Given the description of an element on the screen output the (x, y) to click on. 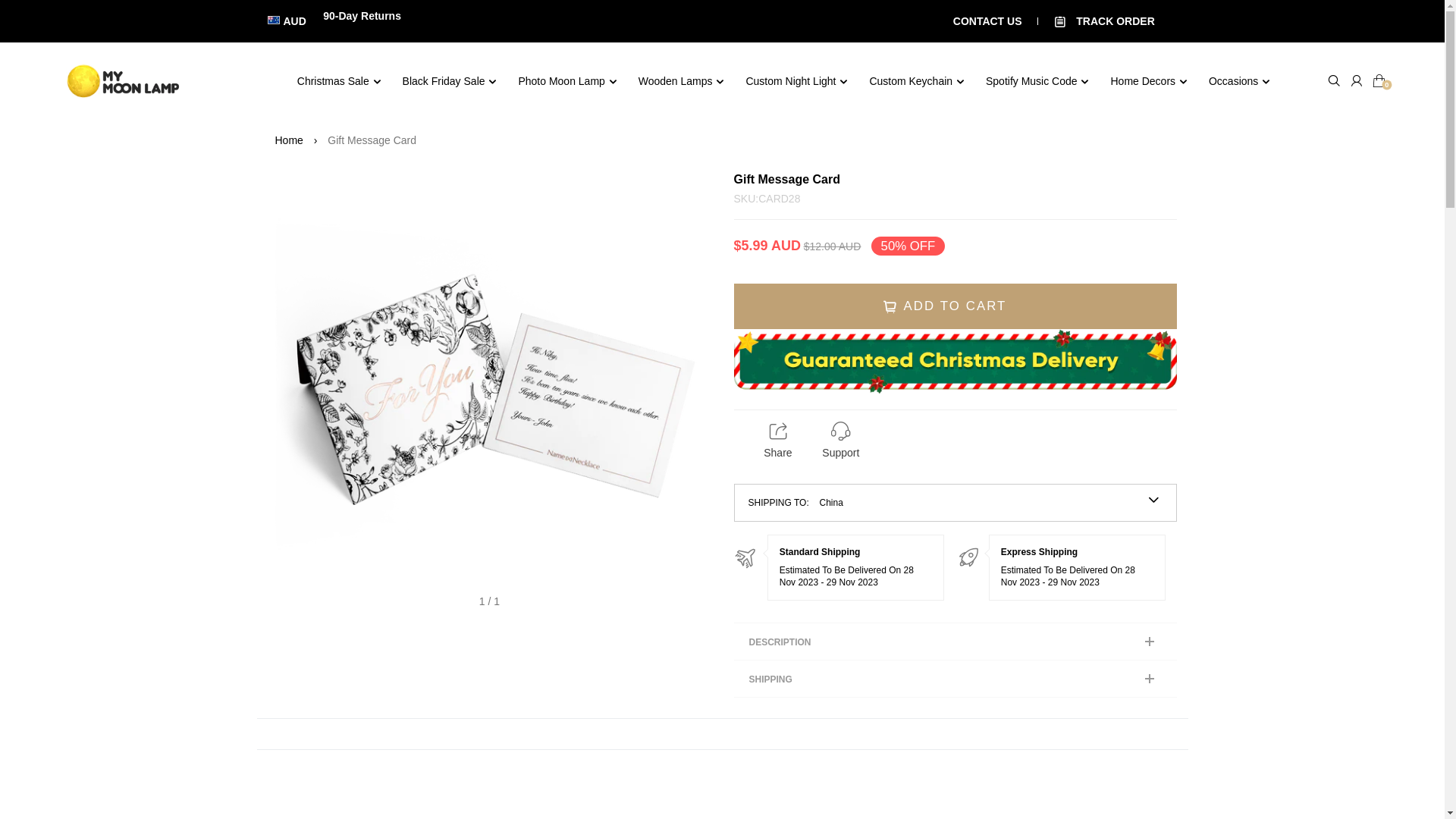
Christmas Sale Element type: text (339, 81)
Custom Keychain Element type: text (916, 81)
Support Element type: text (840, 439)
Wooden Lamps Element type: text (681, 81)
ADD TO CART Element type: text (955, 306)
Spotify Music Code Element type: text (1037, 81)
0 Element type: text (1375, 79)
CONTACT US Element type: text (987, 21)
DESCRIPTION Element type: text (955, 641)
0 Element type: text (1375, 80)
Photo Moon Lamp Element type: text (566, 81)
AUD Element type: text (285, 20)
SHIPPING Element type: text (955, 678)
Black Friday Sale Element type: text (449, 81)
TRACK ORDER Element type: text (1107, 20)
Home Decors Element type: text (1148, 81)
Custom Night Light Element type: text (796, 81)
Occasions Element type: text (1239, 81)
Home Element type: text (288, 140)
